Given the description of an element on the screen output the (x, y) to click on. 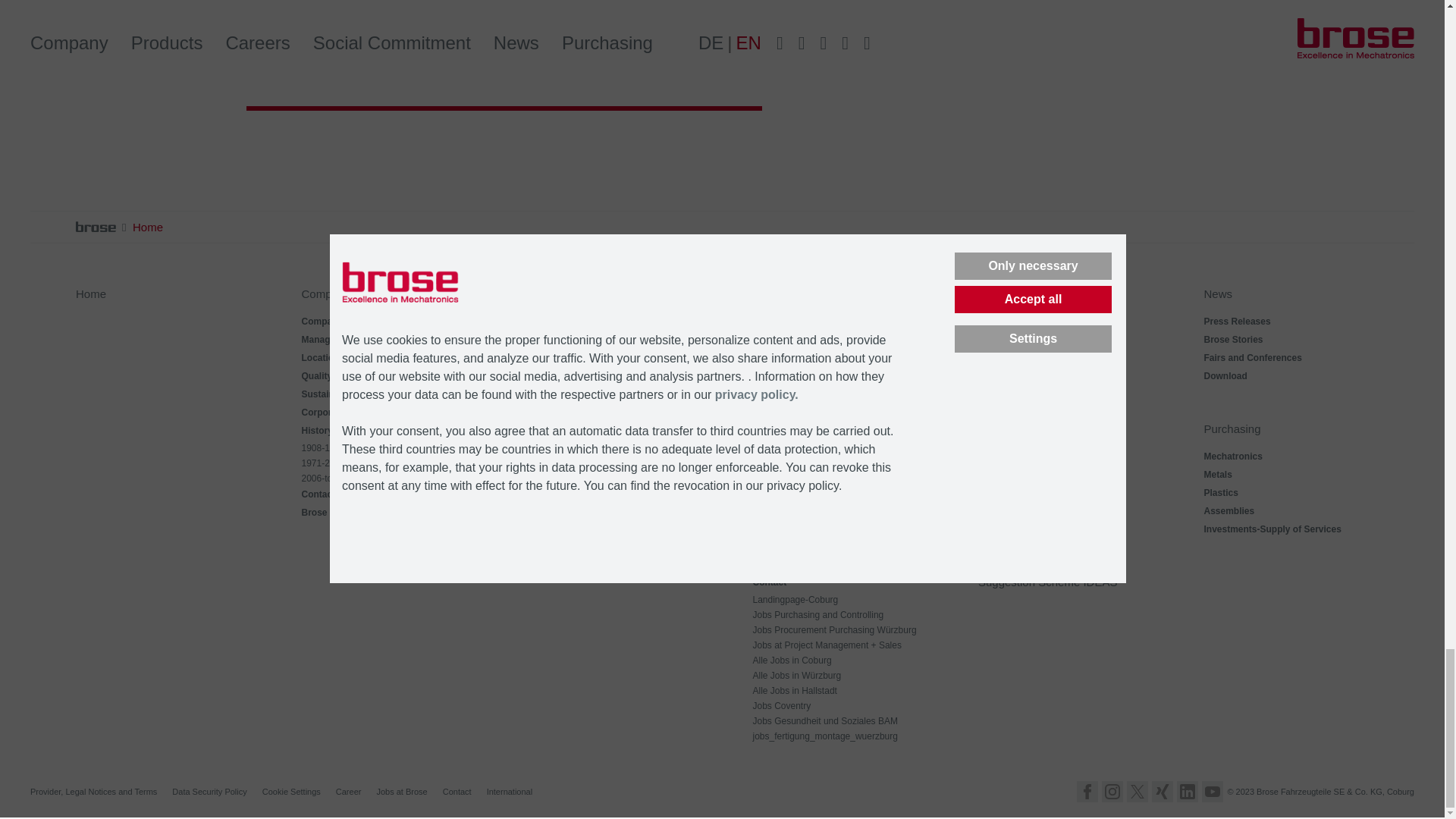
LinkedIn (1187, 791)
YouTube (1212, 791)
Xing (1162, 791)
Facebook (1087, 791)
Instagram (1112, 791)
Twitter (1137, 791)
